Given the description of an element on the screen output the (x, y) to click on. 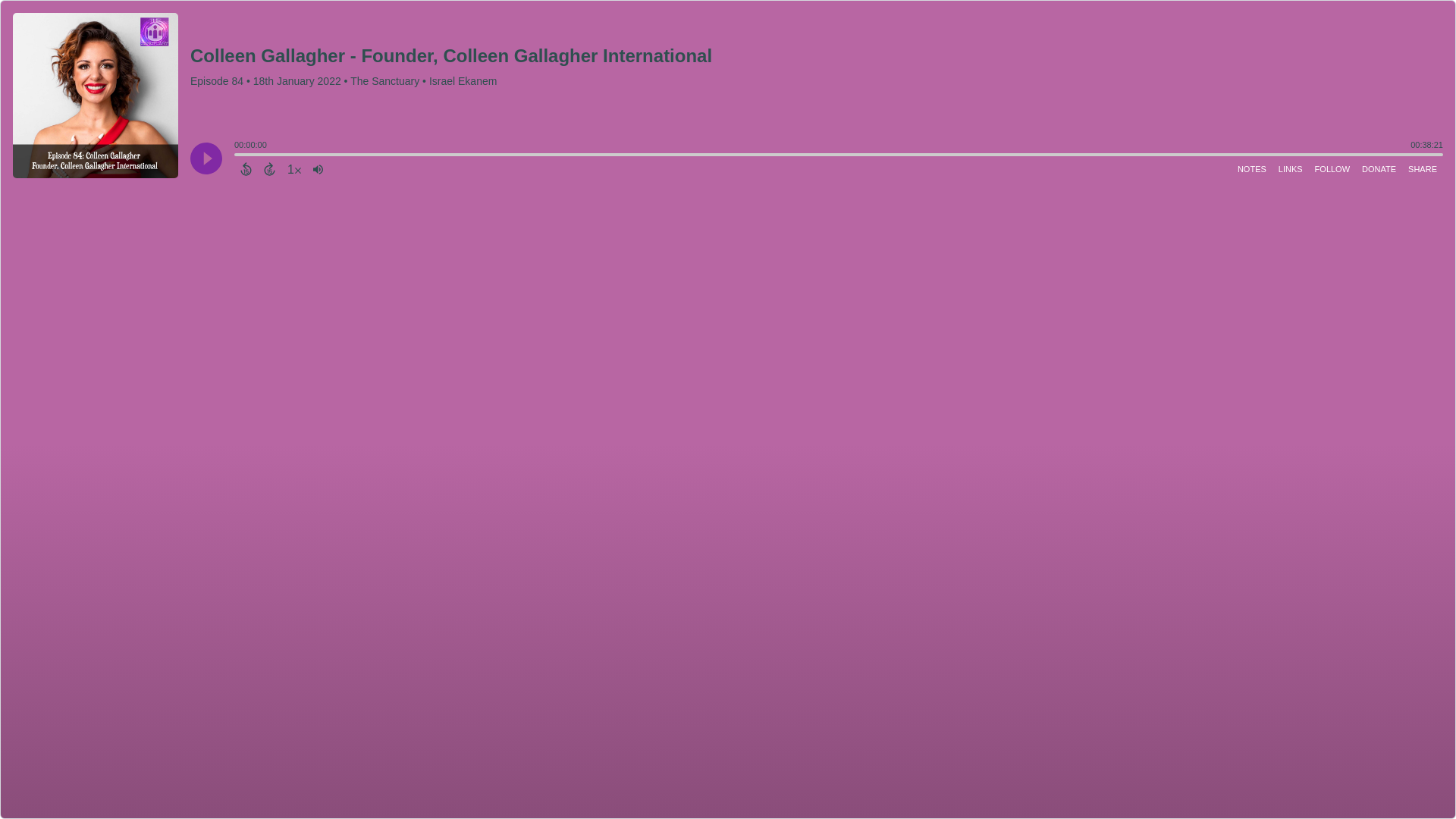
DONATE (1378, 168)
LINKS (1290, 168)
SHARE (1422, 168)
NOTES (1251, 168)
1 (294, 168)
FOLLOW (1331, 168)
